Given the description of an element on the screen output the (x, y) to click on. 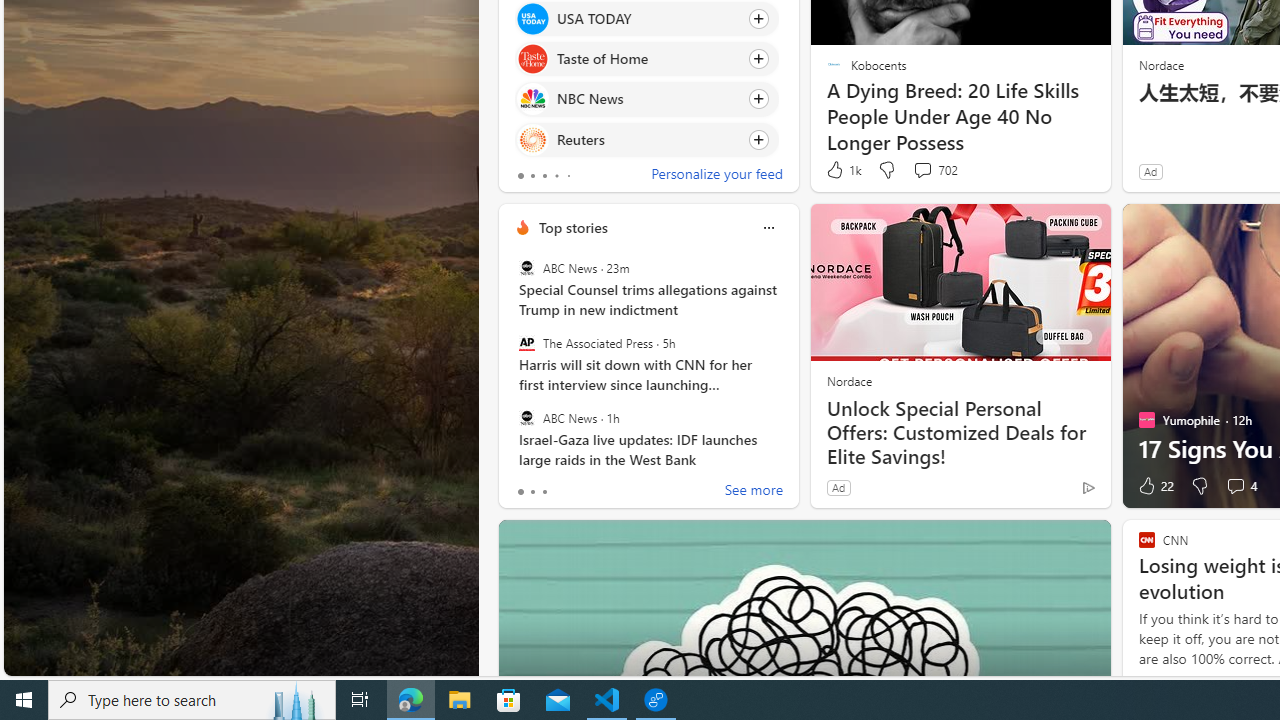
tab-3 (556, 175)
tab-4 (567, 175)
Taste of Home (532, 59)
Click to follow source Taste of Home (646, 59)
View comments 4 Comment (1234, 485)
Class: icon-img (768, 228)
More options (768, 227)
ABC News (526, 417)
The Associated Press (526, 343)
View comments 702 Comment (922, 169)
Click to follow source USA TODAY (646, 18)
View comments 4 Comment (1240, 485)
tab-1 (532, 491)
View comments 702 Comment (934, 170)
